Given the description of an element on the screen output the (x, y) to click on. 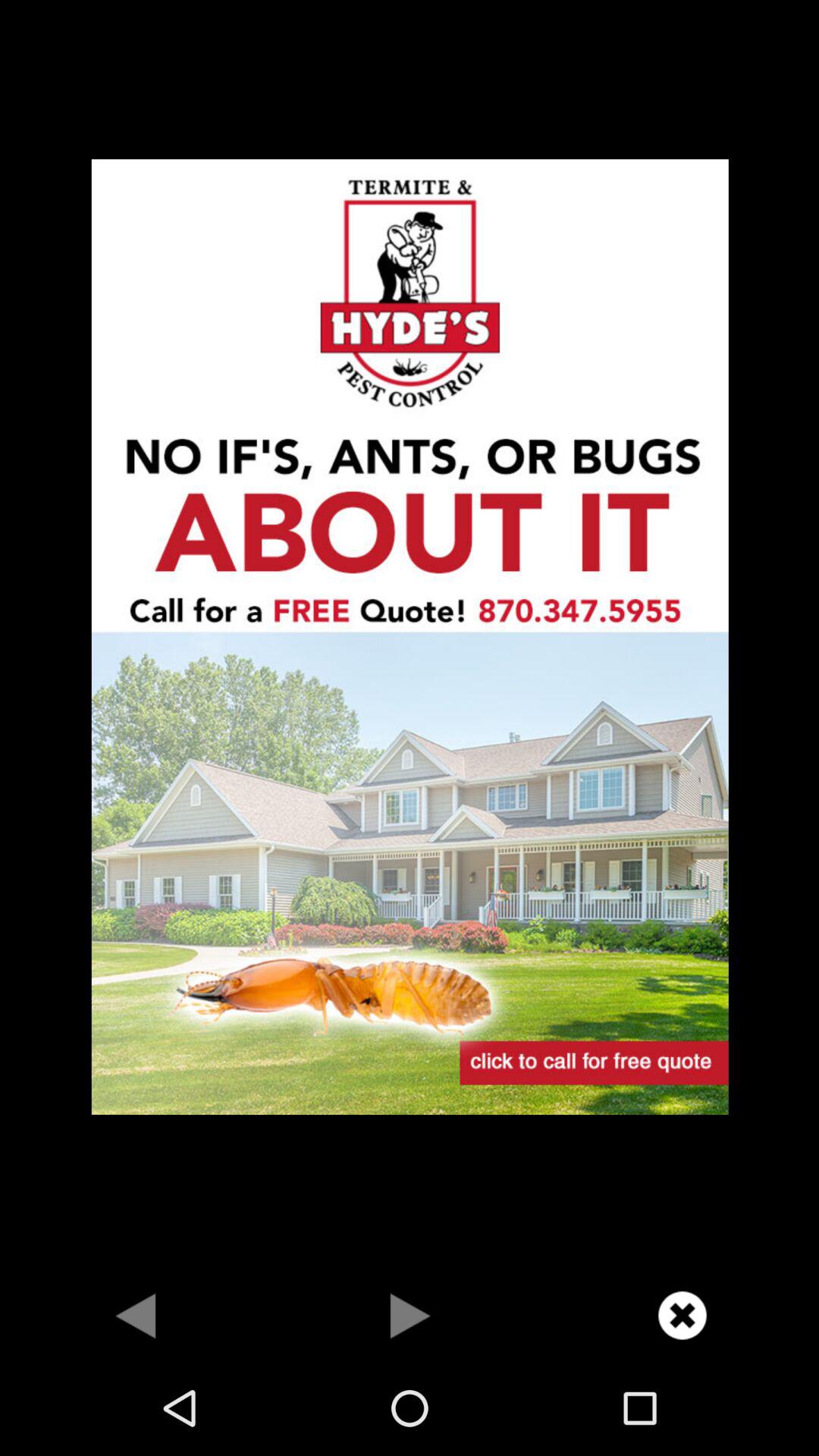
stop the video (682, 1315)
